Given the description of an element on the screen output the (x, y) to click on. 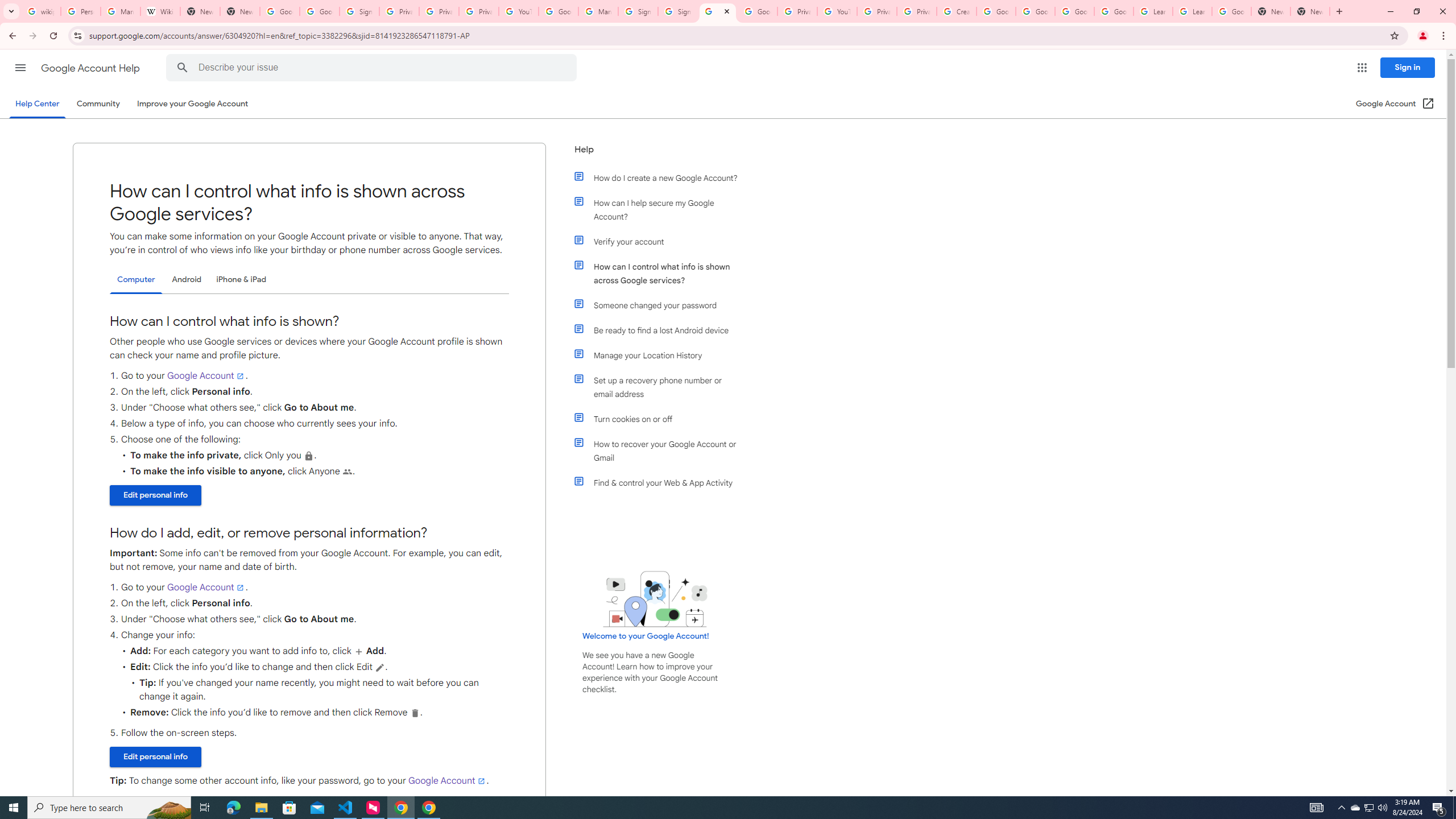
How do I create a new Google Account? (661, 177)
Google Account Help (995, 11)
Computer (136, 280)
Delete (414, 712)
Google Account (1231, 11)
New Tab (1310, 11)
Create your Google Account (956, 11)
Google Account Help (1034, 11)
Google Account (446, 780)
